Given the description of an element on the screen output the (x, y) to click on. 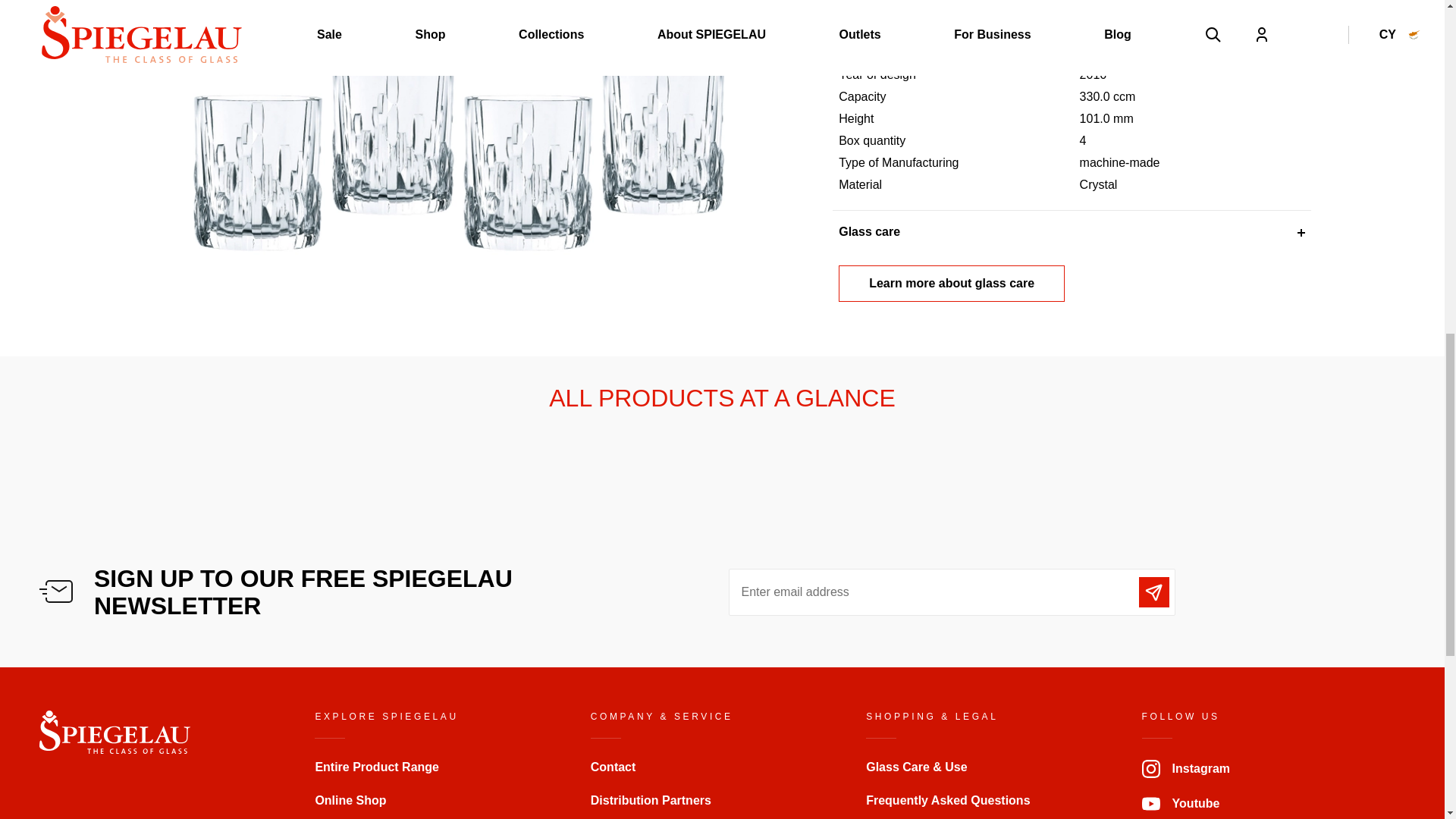
Learn more about glass care (951, 283)
Enter email address (951, 591)
Instagram (1185, 768)
